Given the description of an element on the screen output the (x, y) to click on. 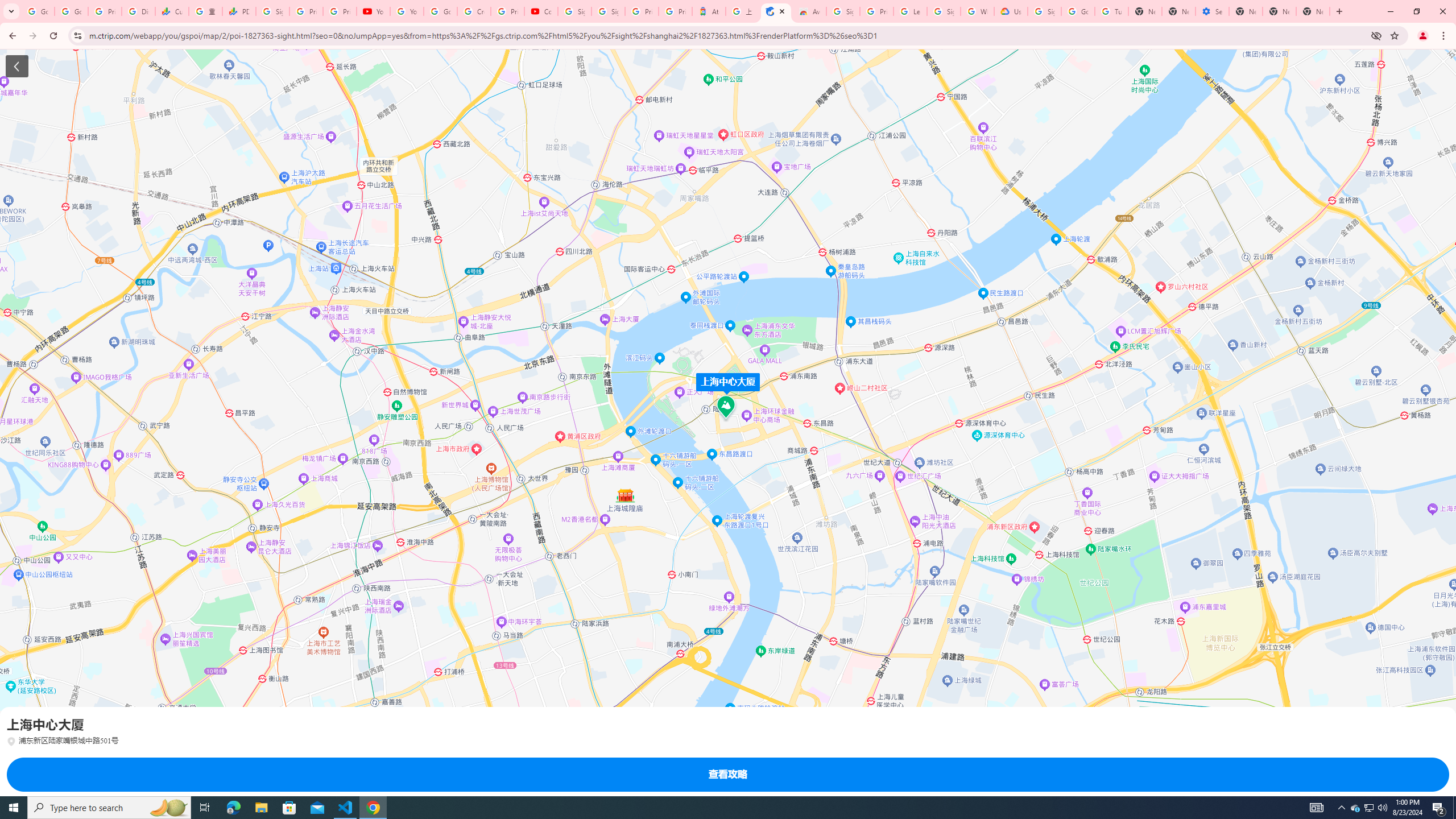
YouTube (406, 11)
Content Creator Programs & Opportunities - YouTube Creators (541, 11)
Sign in - Google Accounts (1043, 11)
Sign in - Google Accounts (608, 11)
To get missing image descriptions, open the context menu. (19, 781)
New Tab (1313, 11)
Atour Hotel - Google hotels (708, 11)
